Given the description of an element on the screen output the (x, y) to click on. 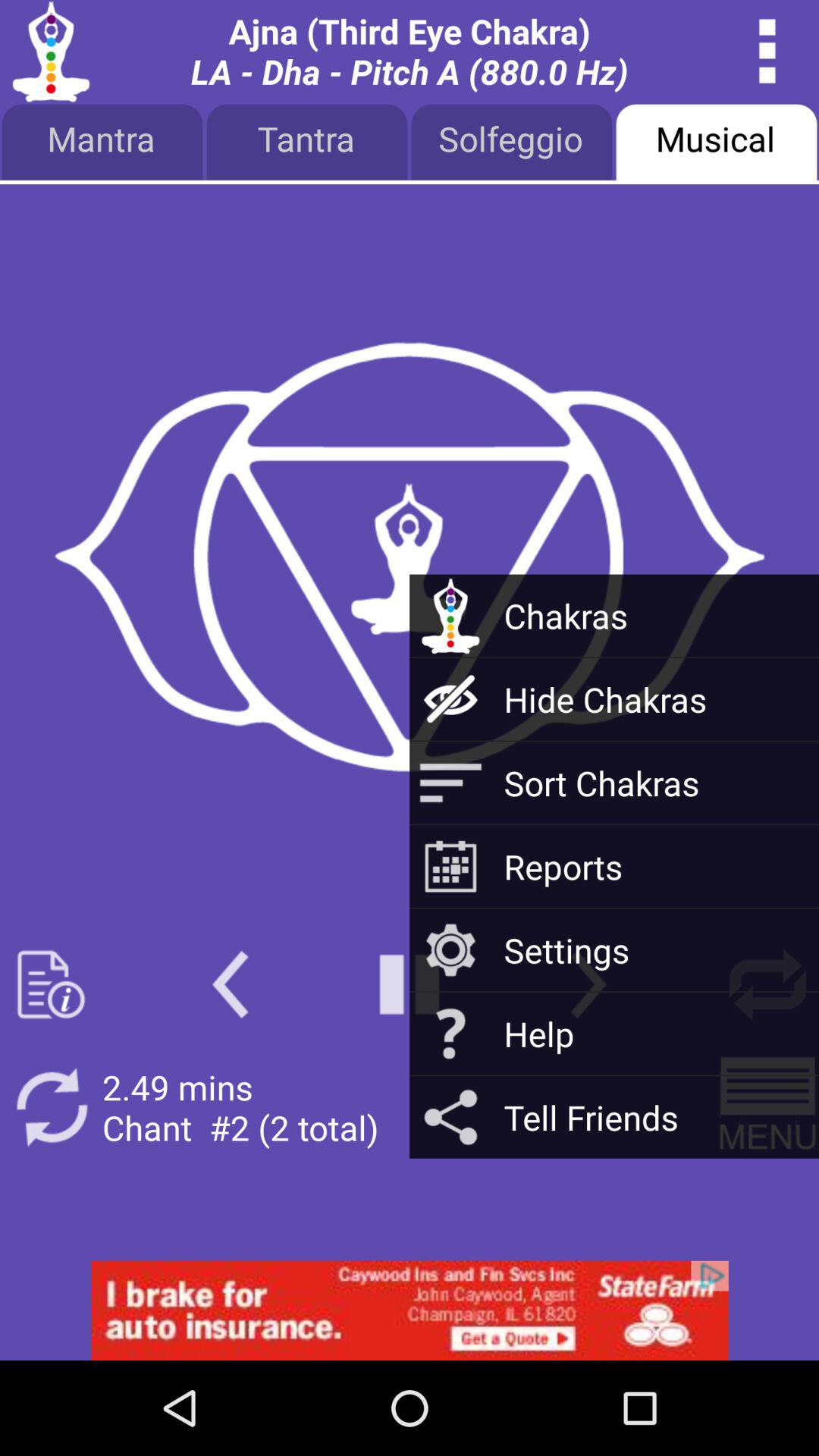
pause playing (409, 984)
